Given the description of an element on the screen output the (x, y) to click on. 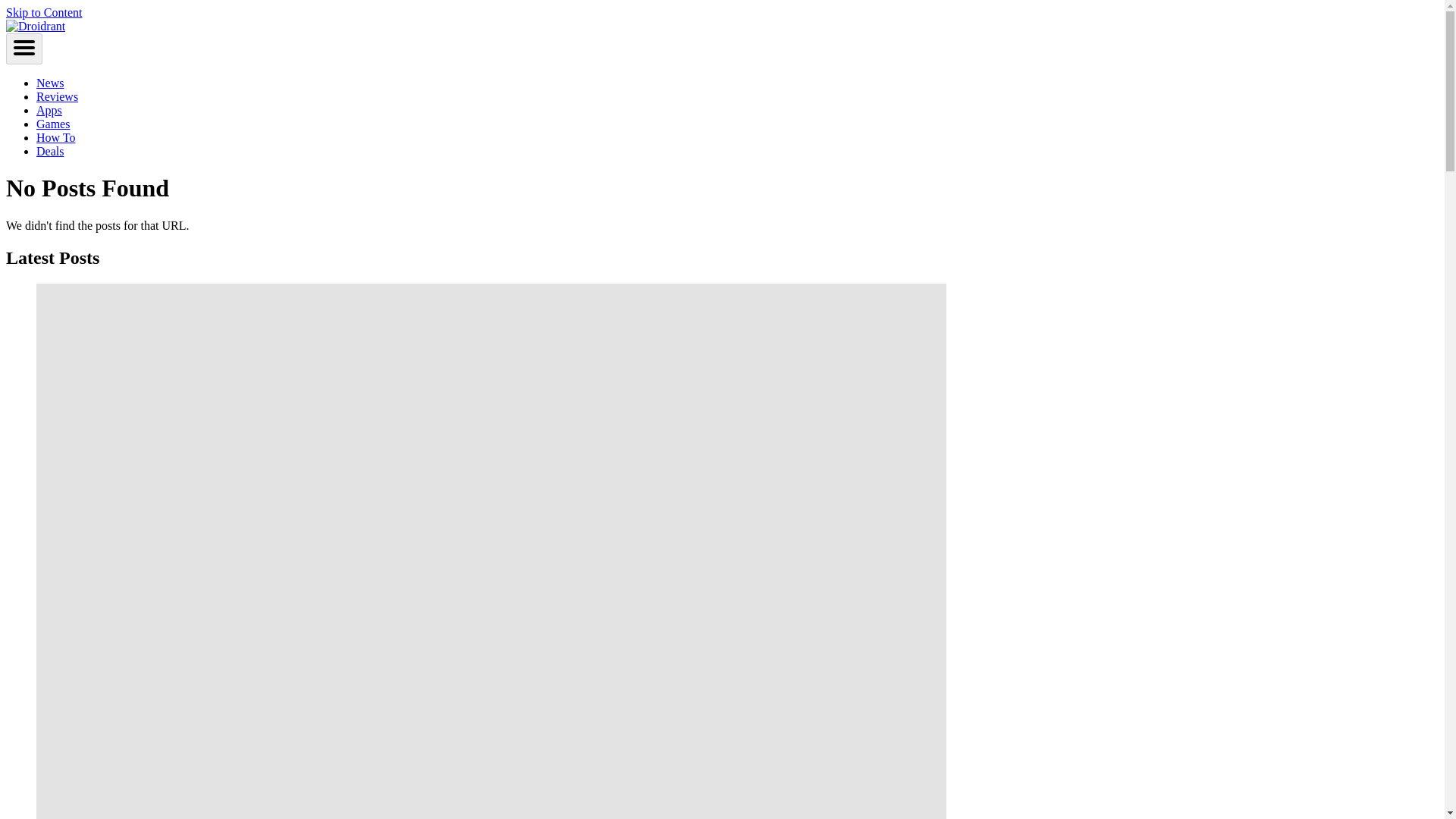
Apps (49, 110)
Deals (50, 151)
Droidrant (35, 25)
Games (52, 123)
News (50, 82)
How To (55, 137)
Reviews (57, 96)
Skip to Content (43, 11)
